Given the description of an element on the screen output the (x, y) to click on. 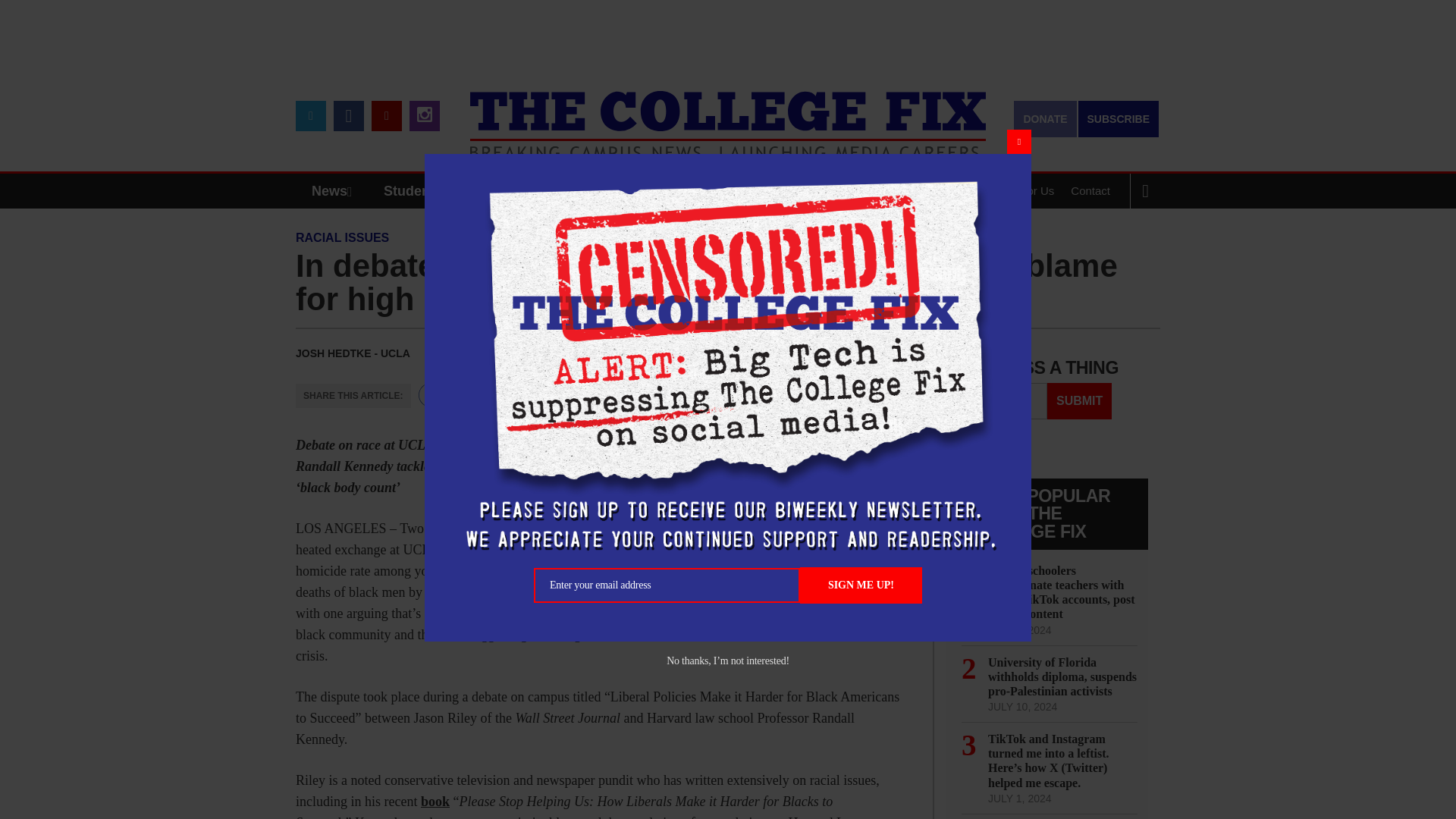
Student Reporters (443, 190)
About The Fix (938, 190)
News (335, 190)
Submit (1079, 401)
DONATE (1044, 118)
SUBSCRIBE (1118, 118)
MERCHANDISE (577, 190)
The College Fix (727, 114)
